Given the description of an element on the screen output the (x, y) to click on. 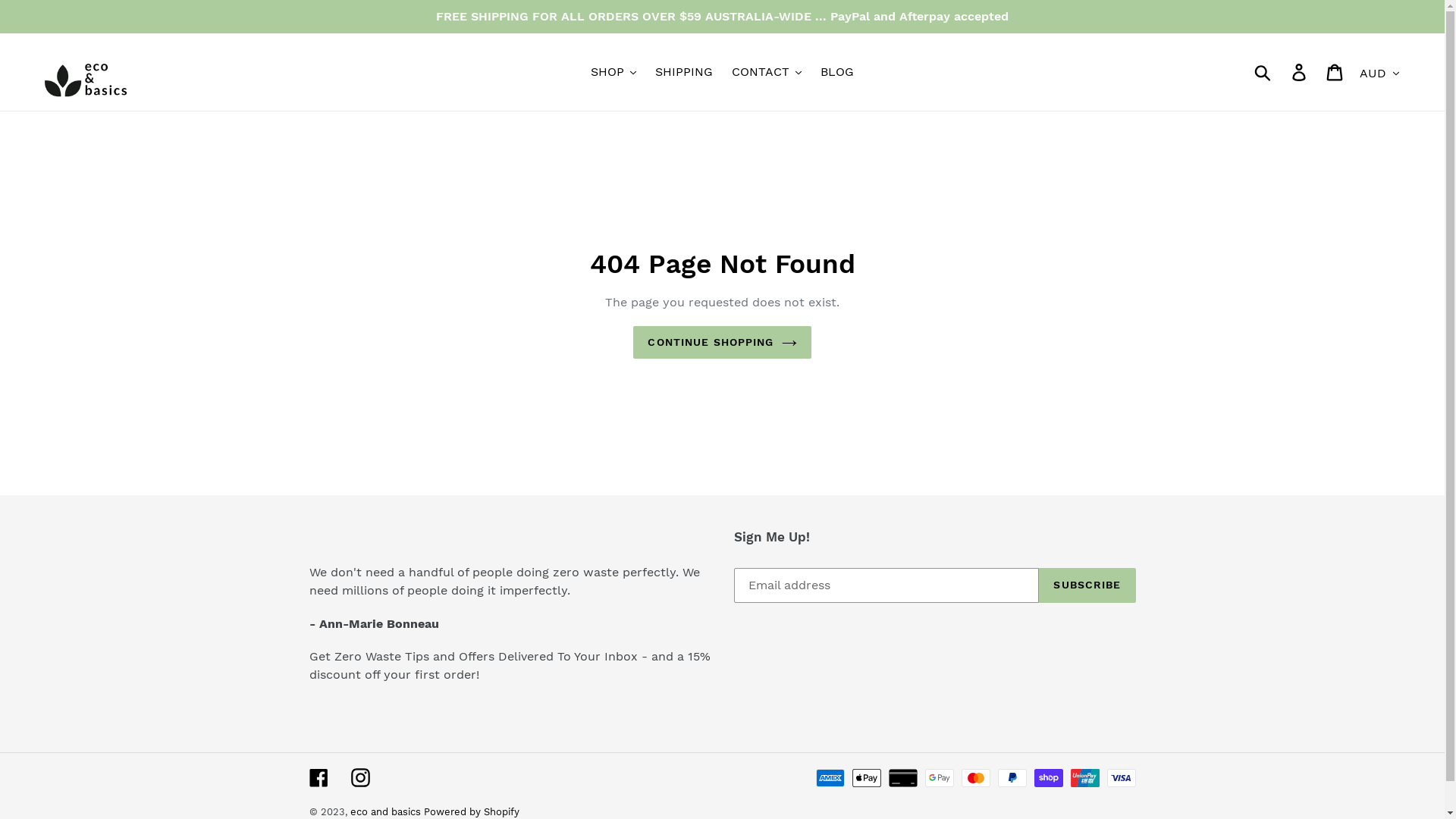
Powered by Shopify Element type: text (470, 811)
CONTINUE SHOPPING Element type: text (721, 342)
eco and basics Element type: text (386, 811)
BLOG Element type: text (836, 71)
Cart Element type: text (1335, 72)
Submit Element type: text (1263, 71)
Log in Element type: text (1299, 72)
Instagram Element type: text (359, 777)
Facebook Element type: text (318, 777)
SHIPPING Element type: text (683, 71)
SUBSCRIBE Element type: text (1086, 584)
